Given the description of an element on the screen output the (x, y) to click on. 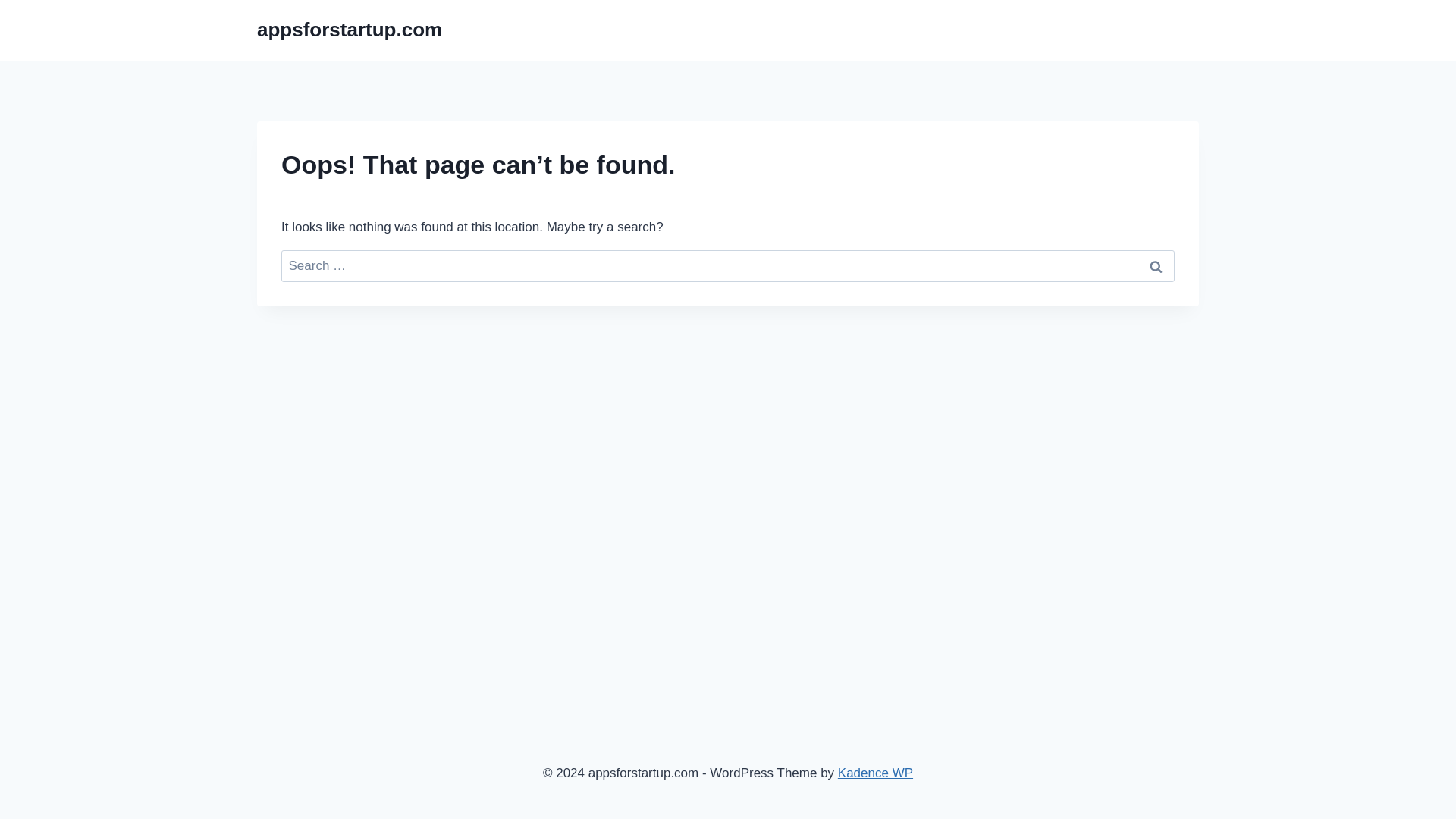
Search (1155, 266)
Kadence WP (875, 772)
Search (1155, 266)
appsforstartup.com (349, 29)
Search (1155, 266)
